Given the description of an element on the screen output the (x, y) to click on. 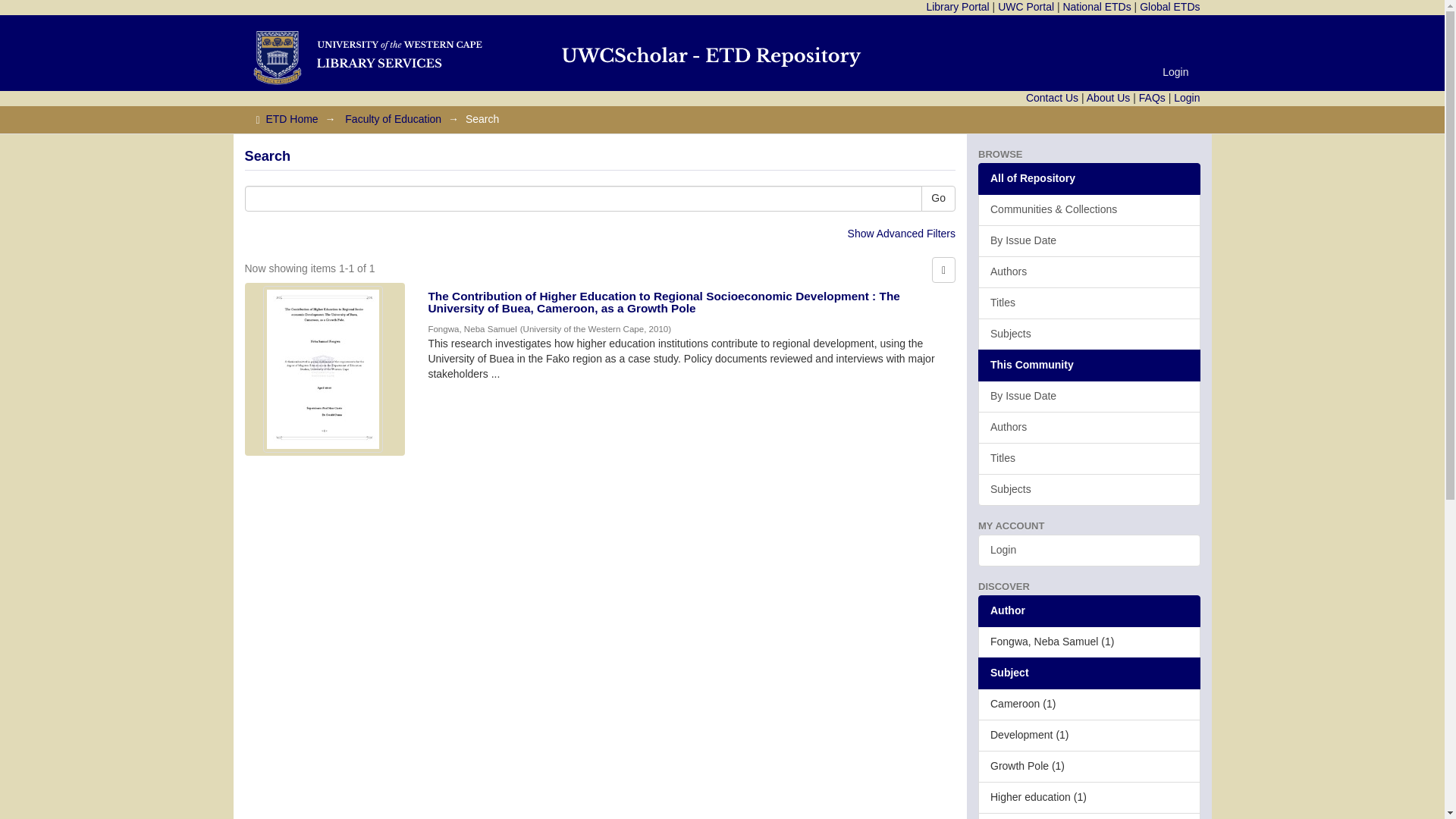
Login (1186, 97)
FAQs (1152, 97)
Login (1175, 71)
Global ETDs (1169, 6)
Show Advanced Filters (901, 233)
Go (938, 198)
Contact Us (1052, 97)
UWC Portal (1025, 6)
National ETDs (1096, 6)
Faculty of Education (393, 119)
About Us (1108, 97)
ETD Home (290, 119)
Library Portal (957, 6)
